Given the description of an element on the screen output the (x, y) to click on. 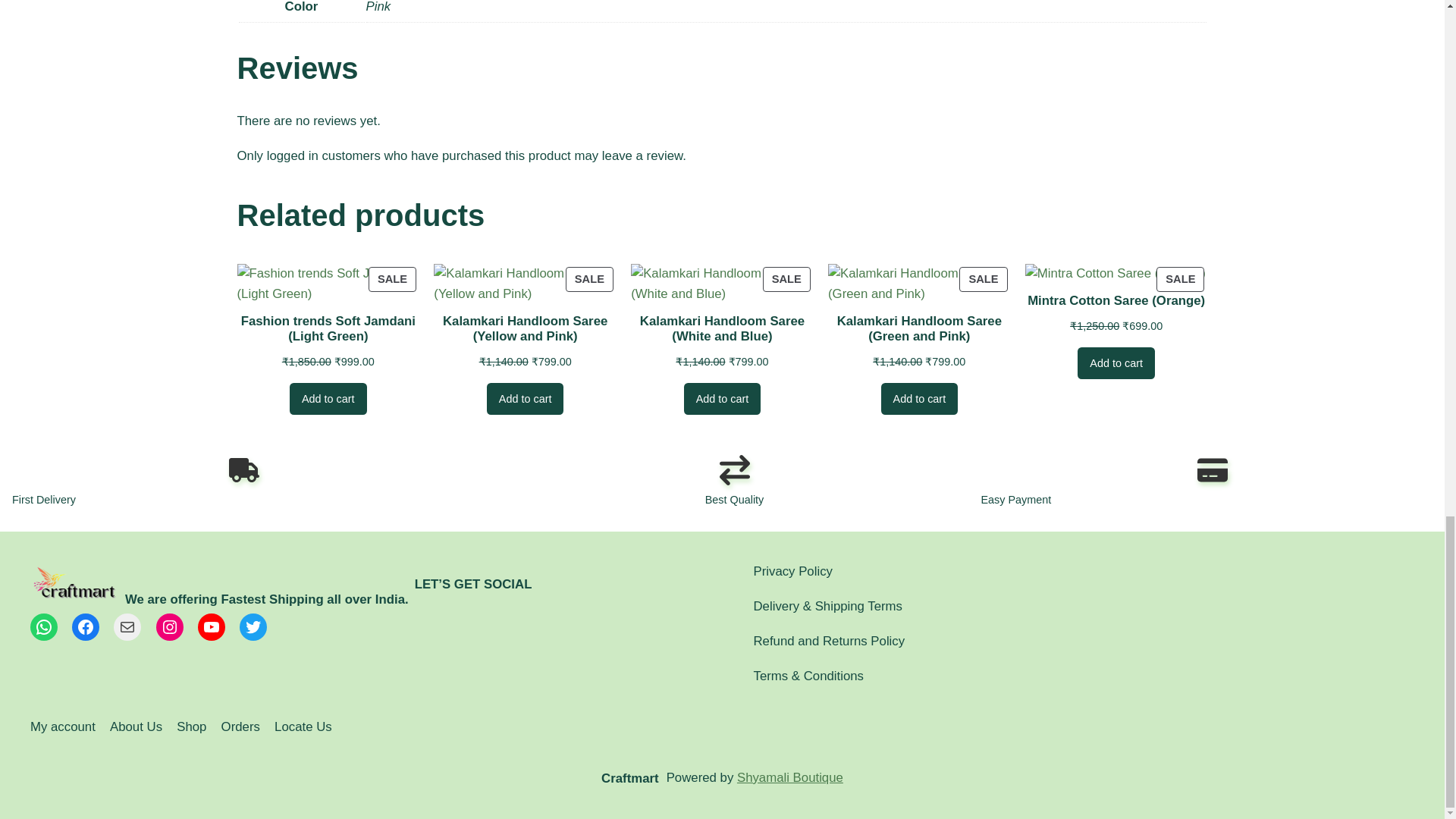
Add to cart (327, 398)
Add to cart (524, 283)
